Given the description of an element on the screen output the (x, y) to click on. 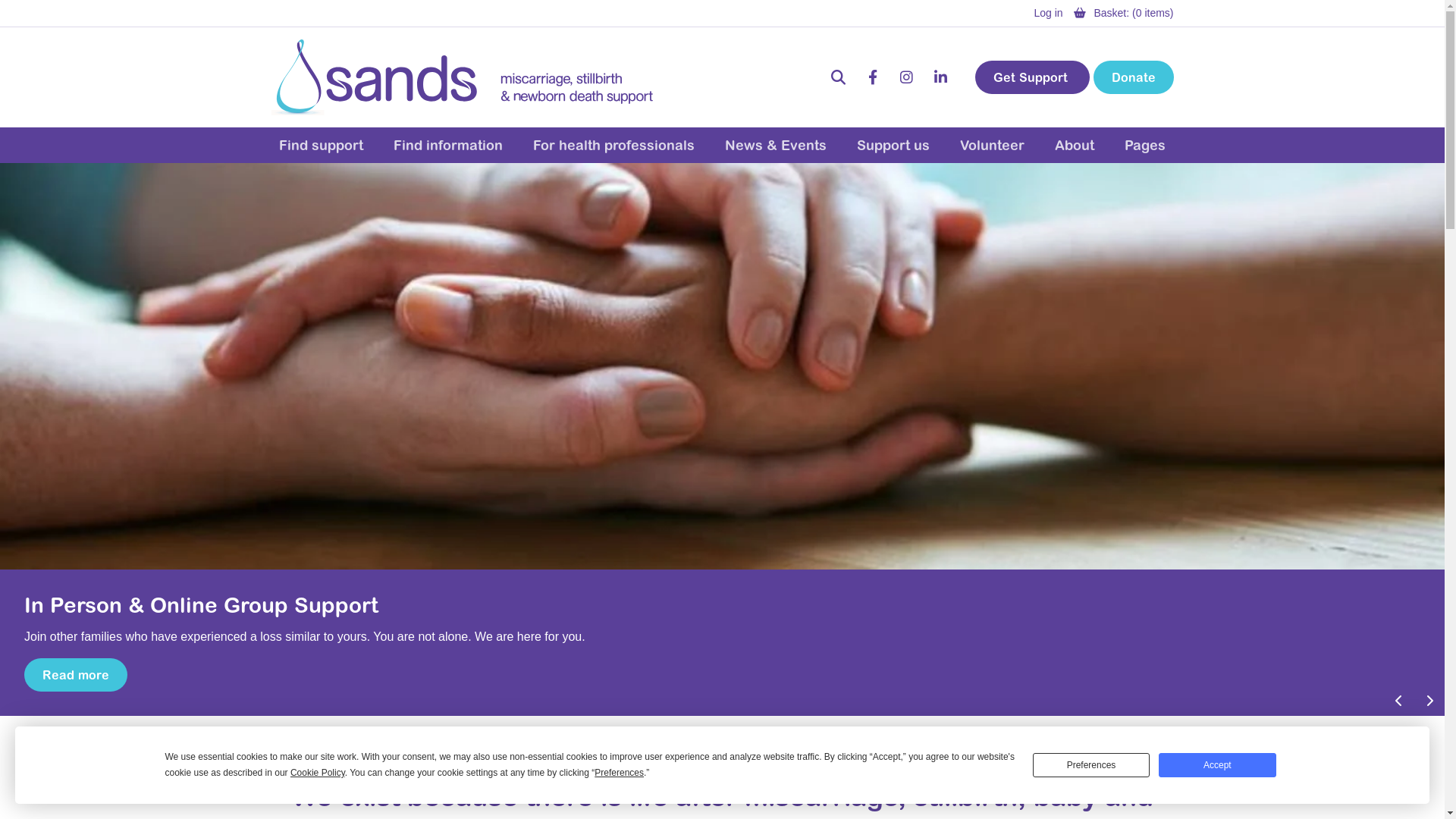
Volunteer Element type: text (991, 145)
Find information Element type: text (447, 145)
Support us Element type: text (892, 145)
Read: In Person & Online Group Support Element type: hover (722, 366)
Preferences Element type: text (1090, 765)
Get Support  Element type: text (1032, 77)
Next Element type: text (1429, 700)
In Person & Online Group Support Element type: text (201, 605)
Basket: (0 items) Element type: text (1133, 12)
For health professionals Element type: text (613, 145)
Facebook Element type: text (871, 77)
SANDS - MISCARRIAGE STILLBIRTH NEWBORN DEATH SUPPORT Element type: text (466, 77)
Prev Element type: text (1398, 700)
Instagram Element type: text (906, 77)
News & Events Element type: text (775, 145)
Accept Element type: text (1216, 765)
Donate Element type: text (1133, 77)
Search Element type: text (838, 77)
Log in Element type: text (1047, 12)
About Element type: text (1074, 145)
Find support Element type: text (320, 145)
Linkedin Element type: text (940, 77)
Pages Element type: text (1144, 145)
